Given the description of an element on the screen output the (x, y) to click on. 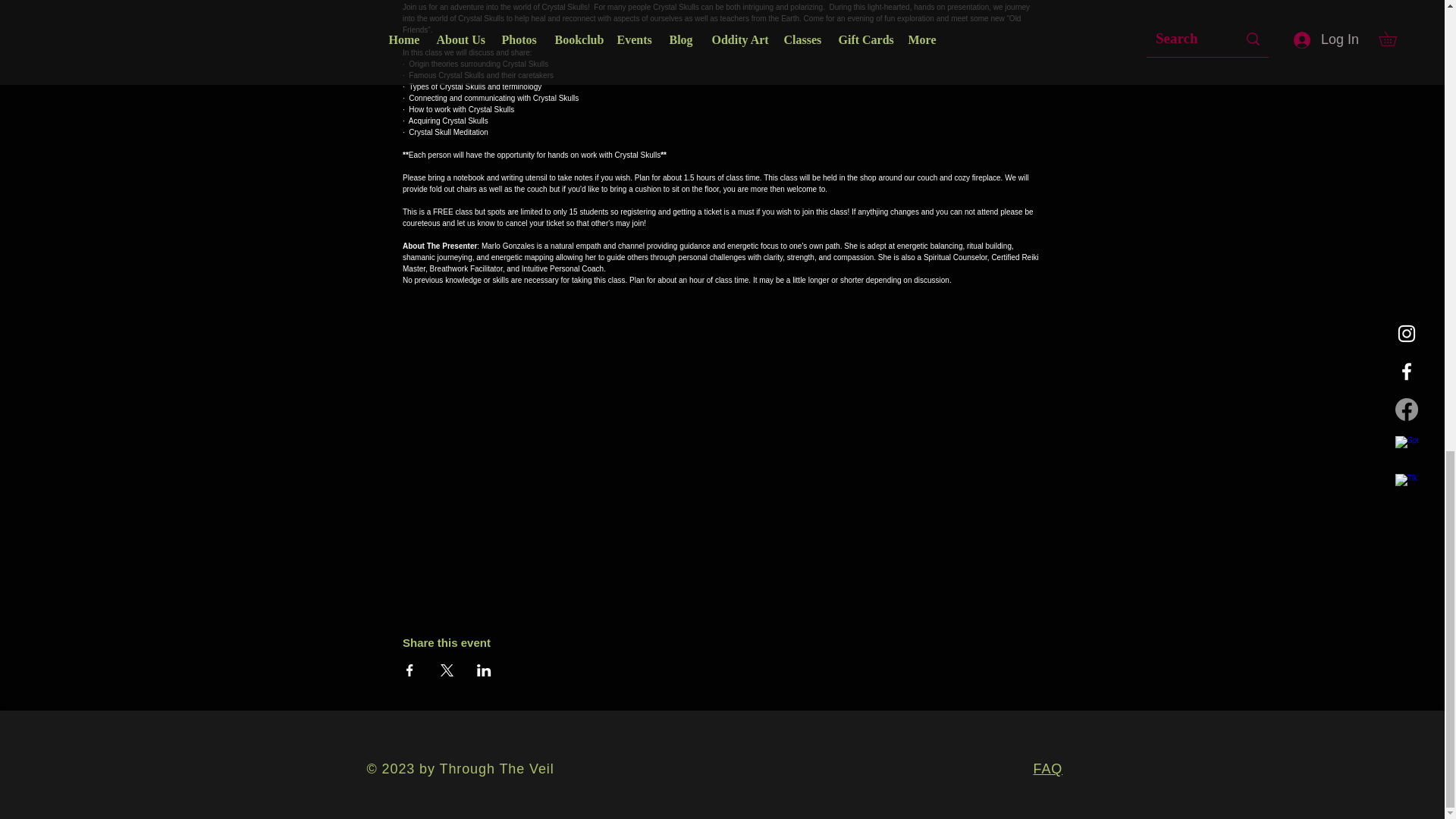
FAQ (1047, 768)
